Given the description of an element on the screen output the (x, y) to click on. 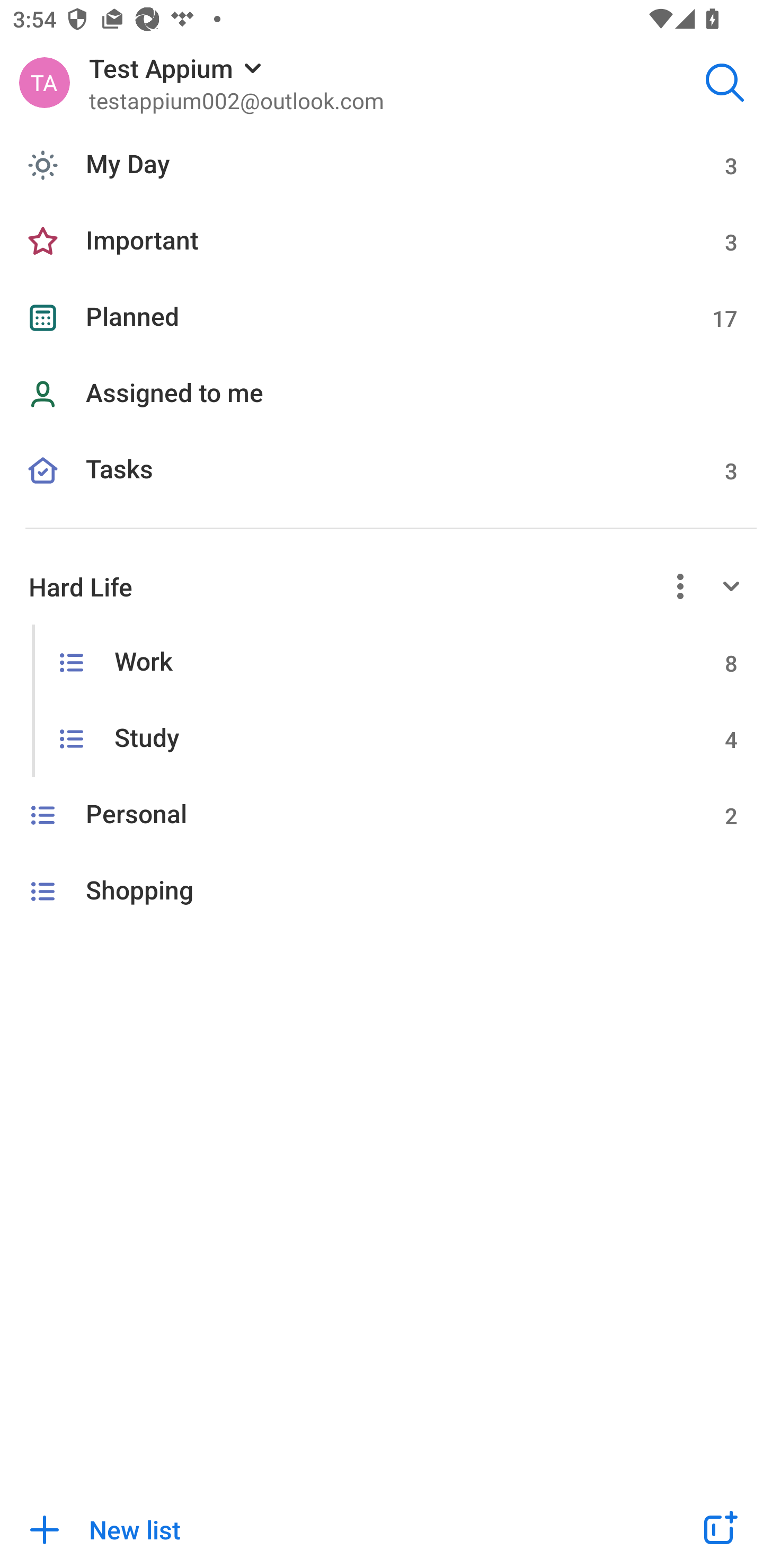
Shopping (381, 890)
